Given the description of an element on the screen output the (x, y) to click on. 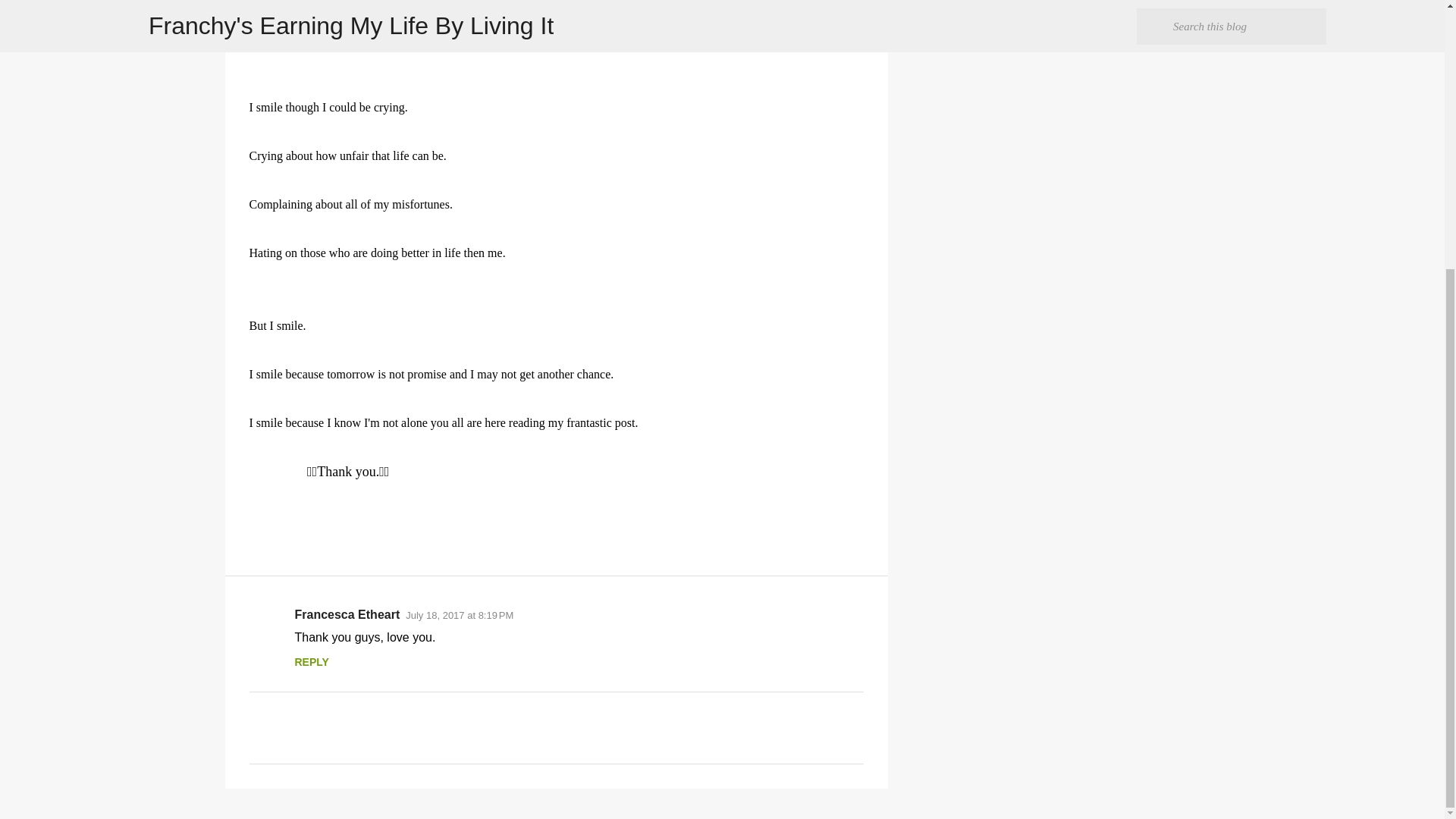
REPLY (311, 662)
Francesca Etheart (346, 614)
